Given the description of an element on the screen output the (x, y) to click on. 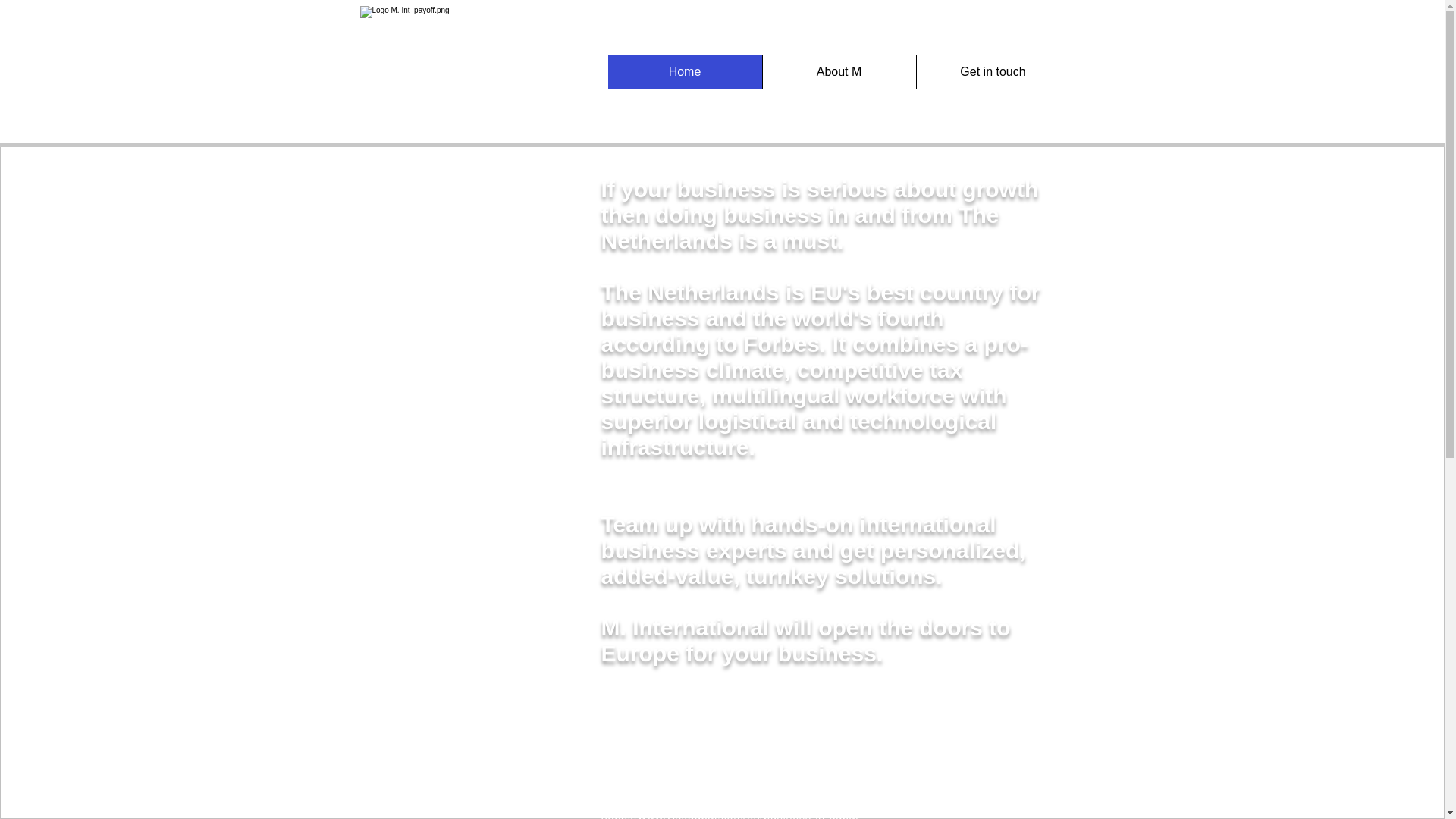
For more details visit: (657, 740)
Home (684, 71)
Get in touch (992, 71)
About M (838, 71)
